Given the description of an element on the screen output the (x, y) to click on. 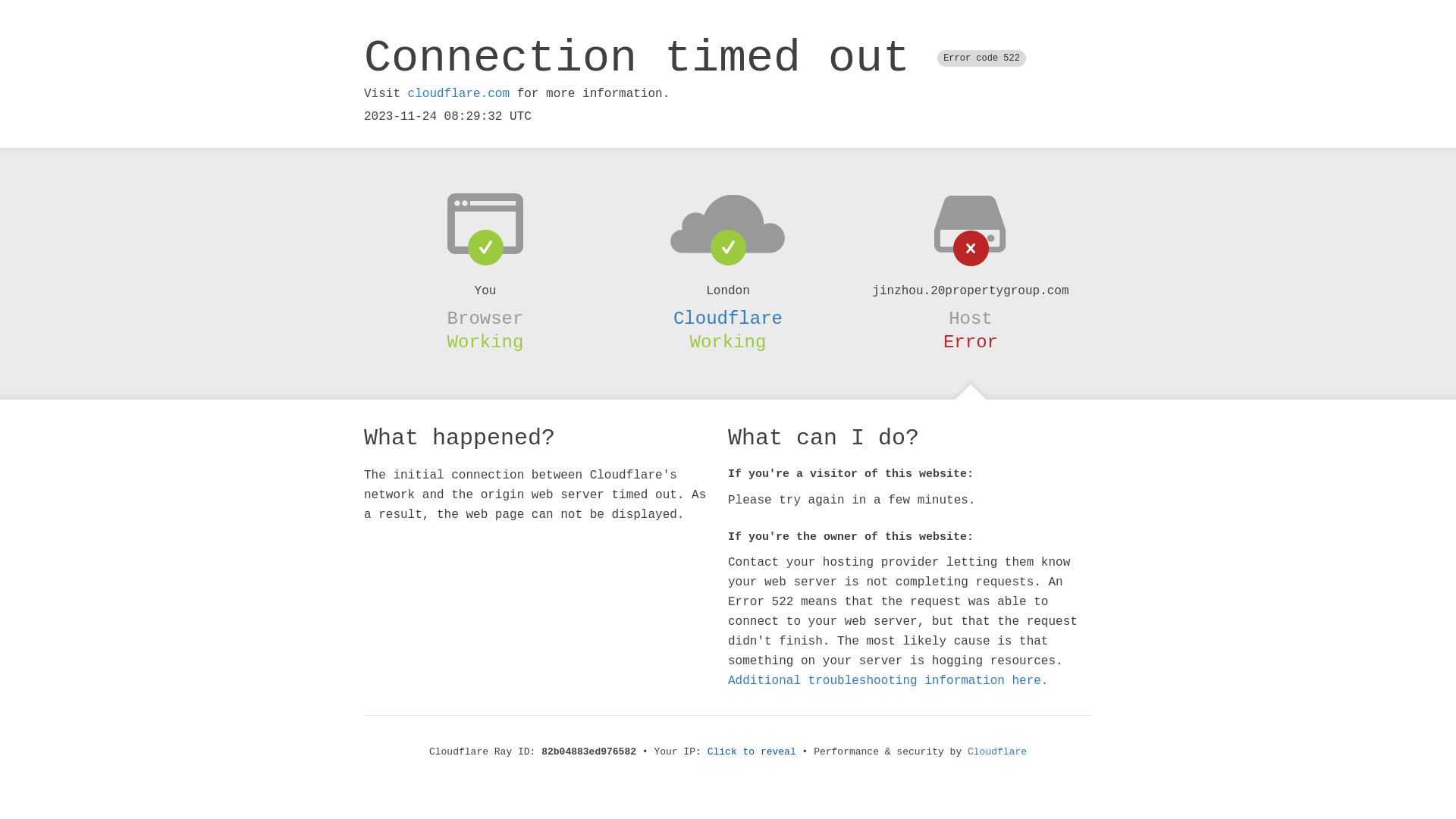
cloudflare.com Element type: text (458, 93)
Cloudflare Element type: text (996, 751)
Additional troubleshooting information here. Element type: text (888, 680)
Click to reveal Element type: text (751, 751)
Cloudflare Element type: text (727, 318)
